Given the description of an element on the screen output the (x, y) to click on. 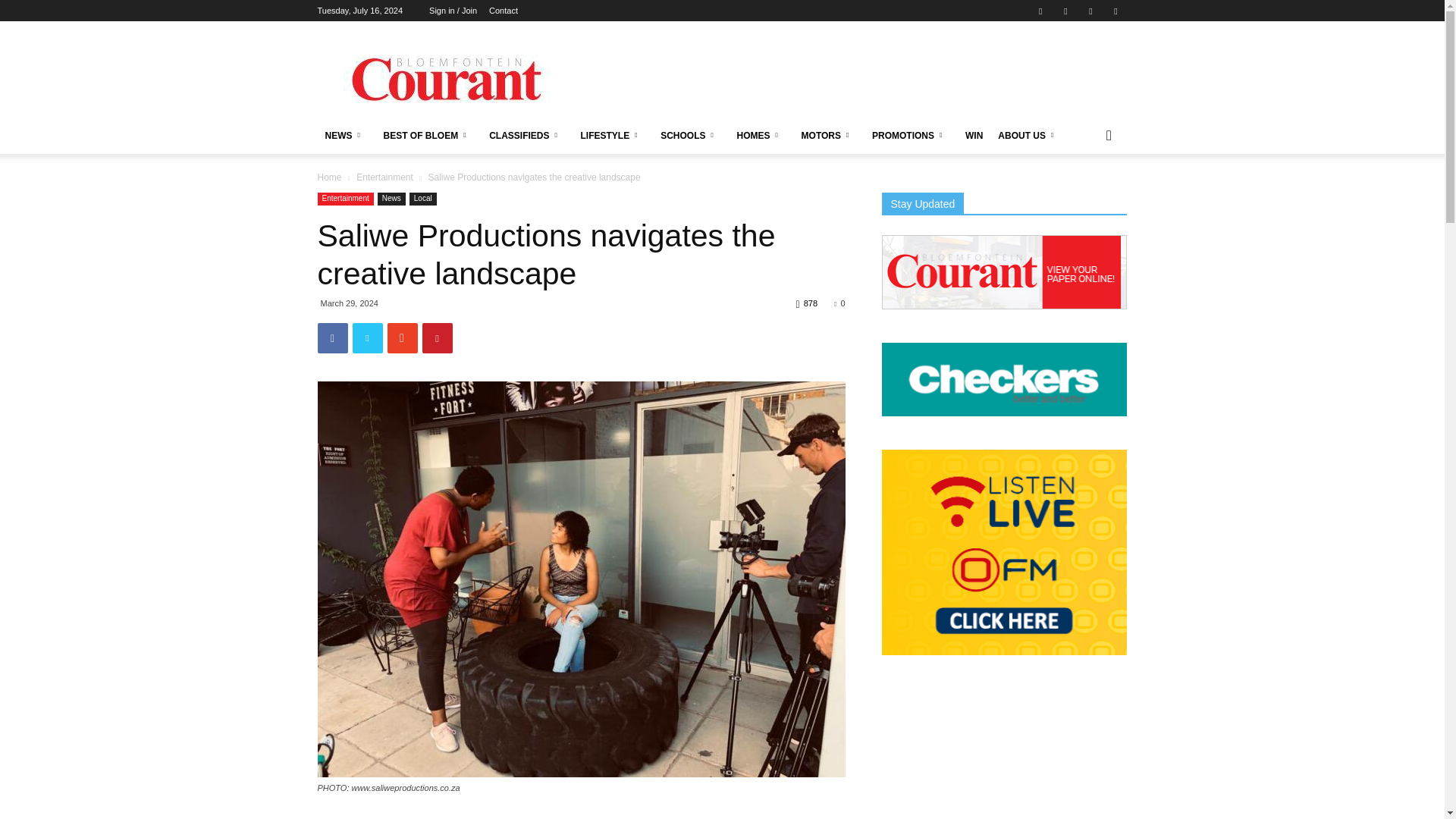
Bloemfontein Courant - News you can use (445, 76)
Facebook (1040, 10)
Youtube (1114, 10)
Twitter (1090, 10)
Mail (1065, 10)
